Given the description of an element on the screen output the (x, y) to click on. 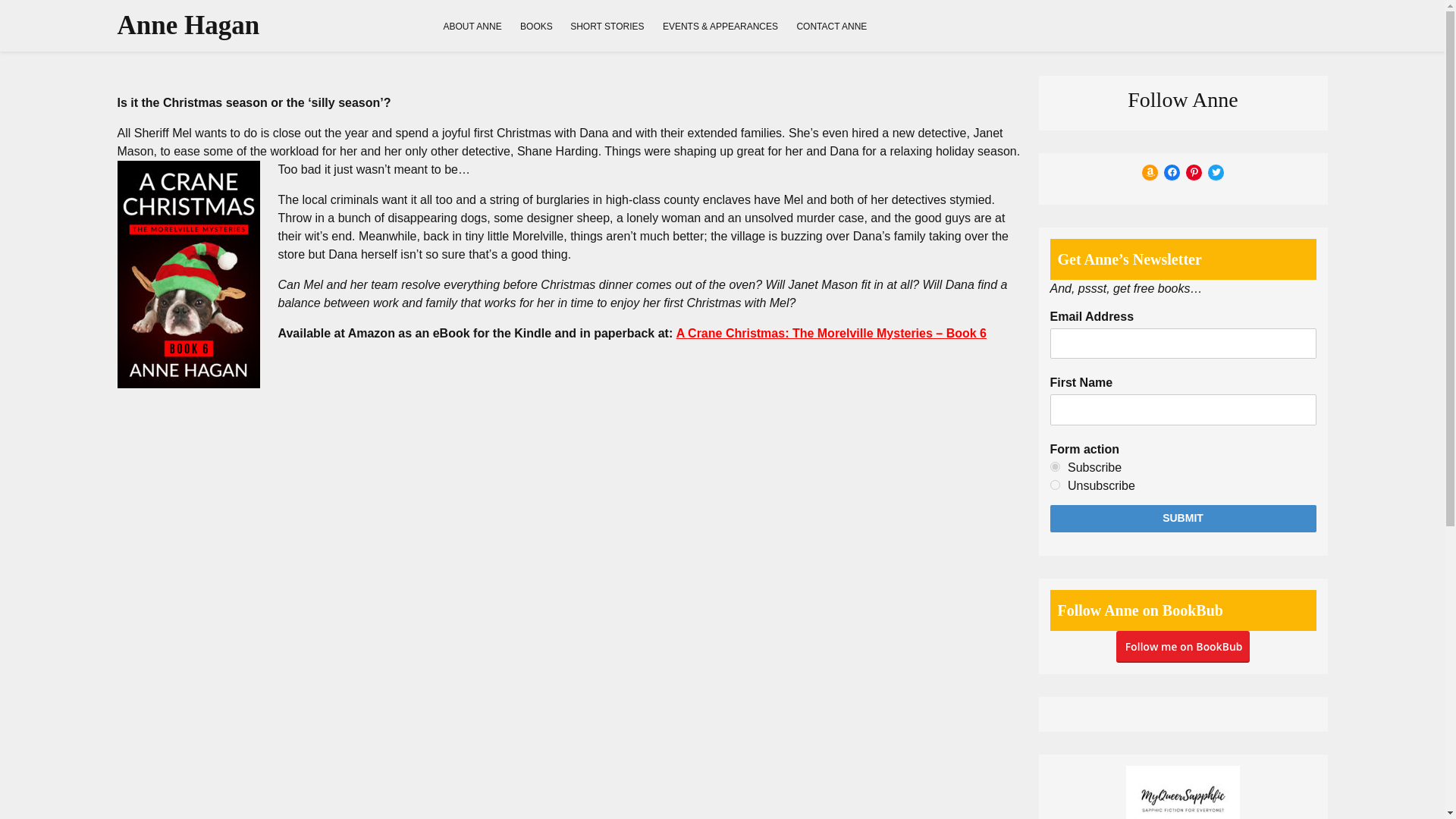
ABOUT ANNE (471, 26)
CONTACT ANNE (832, 26)
Twitter (1216, 172)
unsubscribe (1054, 484)
BOOKS (536, 26)
Facebook (1171, 172)
SHORT STORIES (606, 26)
Anne Hagan (187, 25)
Pinterest (1194, 172)
Submit (1182, 518)
